Given the description of an element on the screen output the (x, y) to click on. 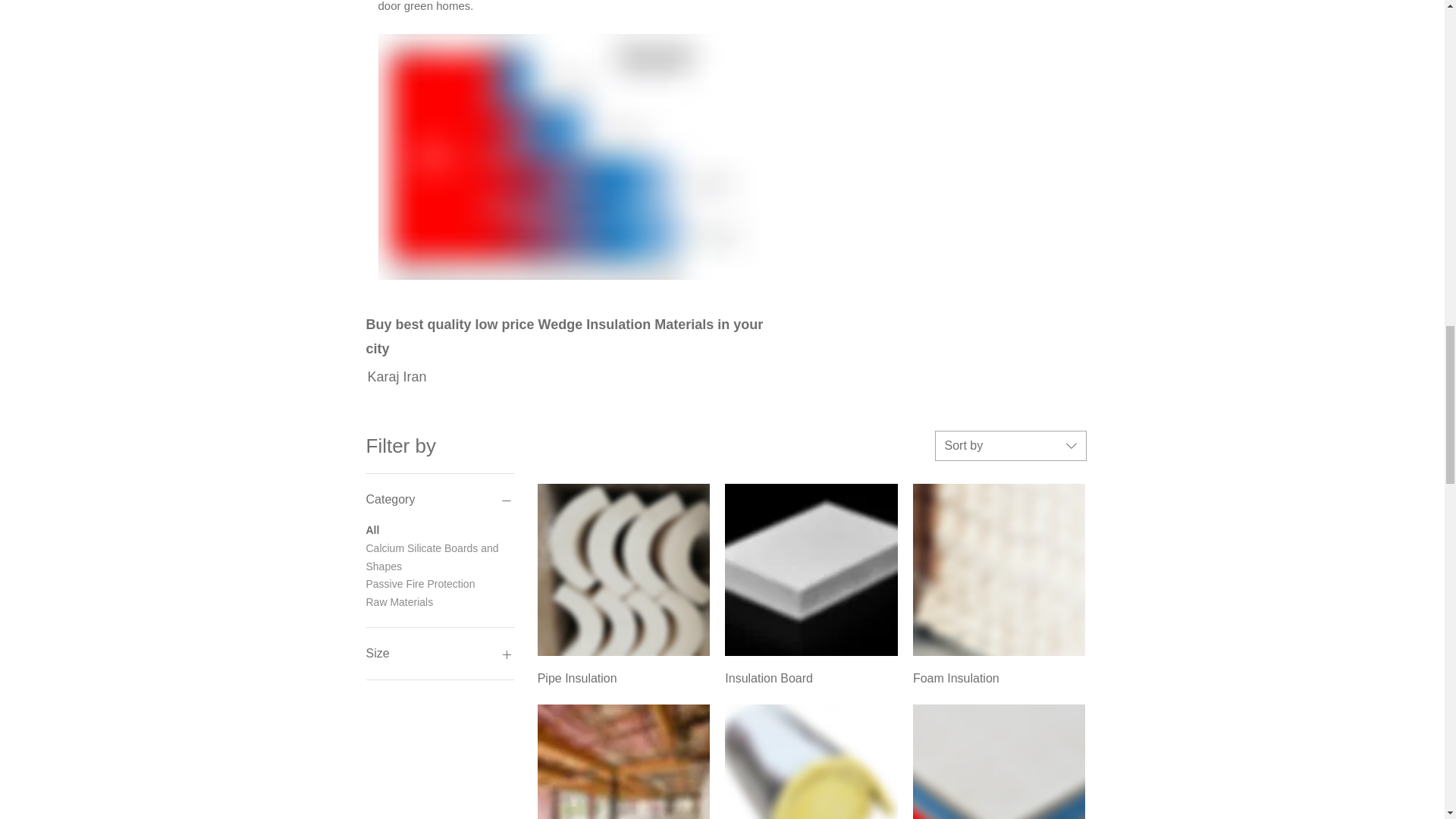
types of insulation material.png (567, 157)
